Given the description of an element on the screen output the (x, y) to click on. 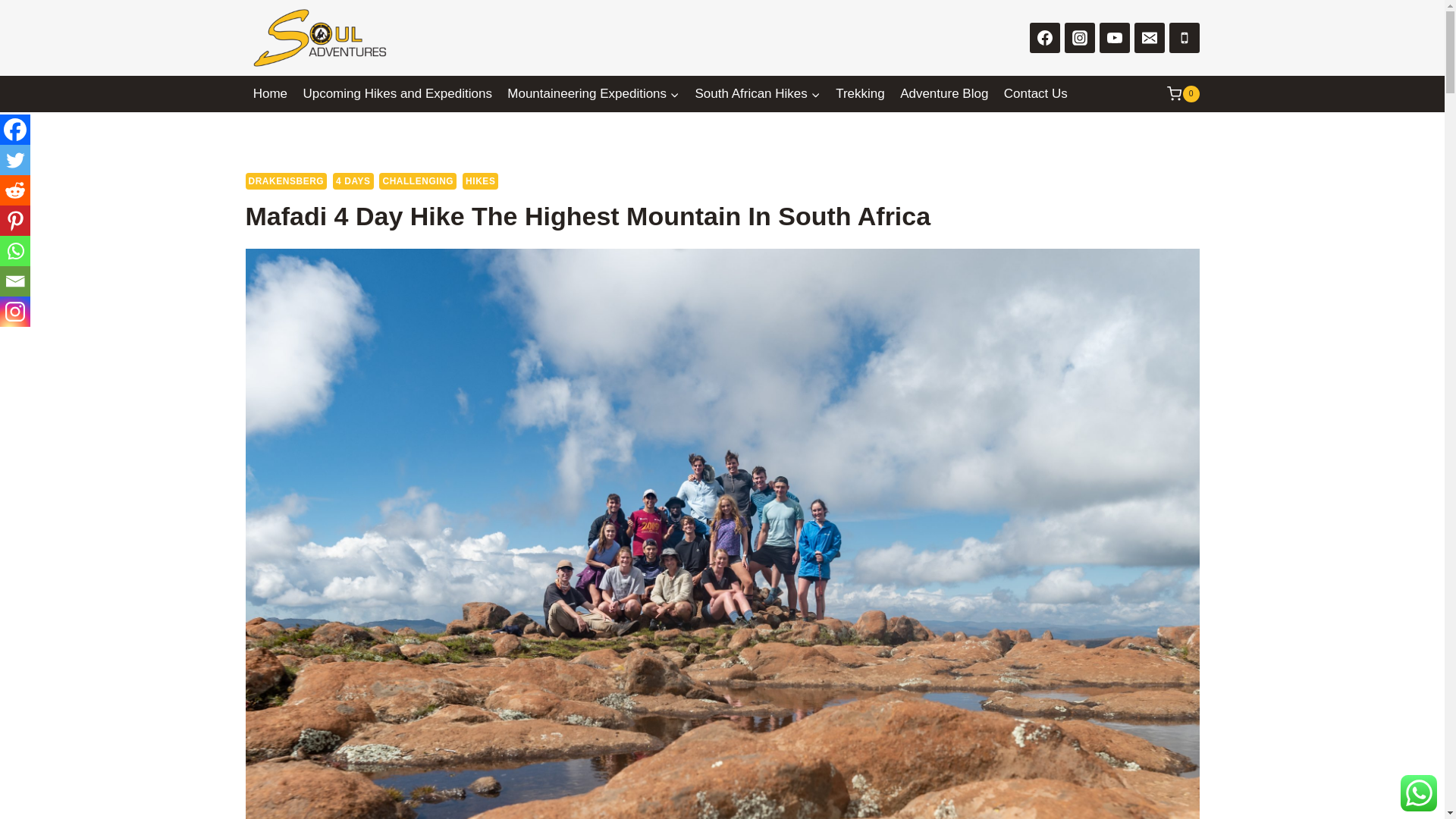
South African Hikes (757, 94)
Home (270, 94)
Home (270, 94)
0 (1182, 93)
4 DAYS (352, 180)
Mountaineering Expeditions (593, 94)
Trekking (860, 94)
Upcoming Hikes and Expeditions (397, 94)
Upcoming Hikes and Expeditions (397, 94)
South African Hikes (757, 94)
